Given the description of an element on the screen output the (x, y) to click on. 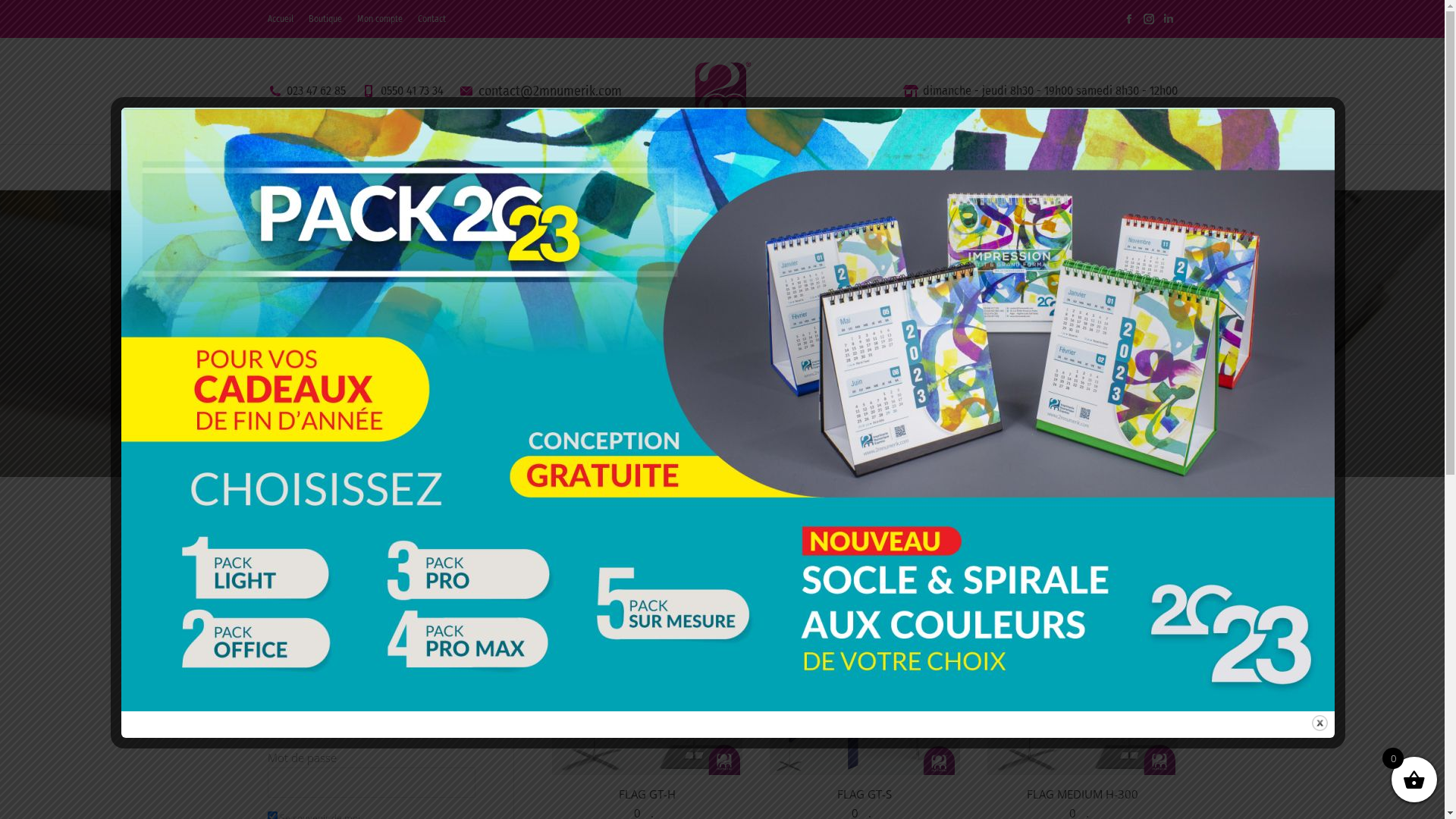
FLAG GT-H Element type: text (646, 793)
Boutique Element type: text (324, 18)
FLAG MEDIUM H-300 Element type: text (1082, 793)
PROMOTIONS Element type: text (864, 166)
STUDIO GRAPHIQUE Element type: text (470, 166)
Accueil Element type: text (279, 18)
Facebook page opens in new window Element type: text (1128, 18)
MON COMPTE Element type: text (1130, 166)
PANIER Element type: text (1056, 166)
PRODUITS Element type: text (783, 166)
STUDIO PHOTO Element type: text (589, 166)
LinkedIn page opens in new window Element type: text (1167, 18)
Accueil Element type: text (677, 353)
GRAND FORMAT Element type: text (694, 166)
FLAG GT-S Element type: text (864, 793)
Mon compte Element type: text (378, 18)
ACCUEIL Element type: text (296, 166)
Contact Element type: text (431, 18)
CONTACT Element type: text (996, 166)
Boutique Element type: text (726, 353)
BLOG Element type: text (937, 166)
Instagram page opens in new window Element type: text (1148, 18)
Recherche Element type: text (459, 576)
